Given the description of an element on the screen output the (x, y) to click on. 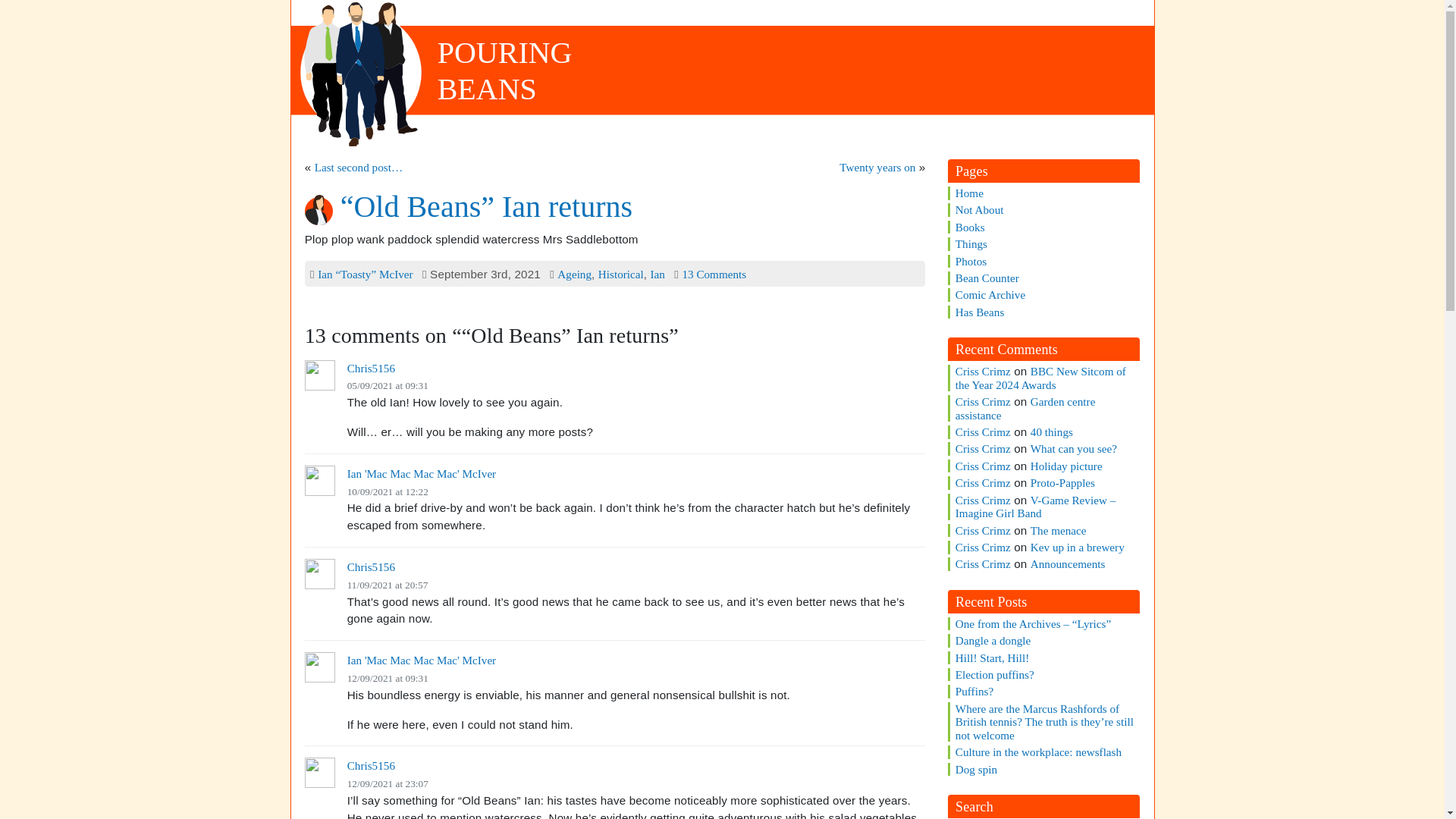
Ian 'Mac Mac Mac Mac' McIver (421, 659)
Ian (656, 273)
Twenty years on (877, 166)
13 Comments (713, 273)
Chris5156 (370, 367)
Ageing (574, 273)
Pouring Beans (505, 71)
The old Pouring Beans blog, archived for posterity (979, 311)
Ian 'Mac Mac Mac Mac' McIver (421, 472)
Chris5156 (505, 71)
Historical (370, 765)
Chris5156 (620, 273)
